Given the description of an element on the screen output the (x, y) to click on. 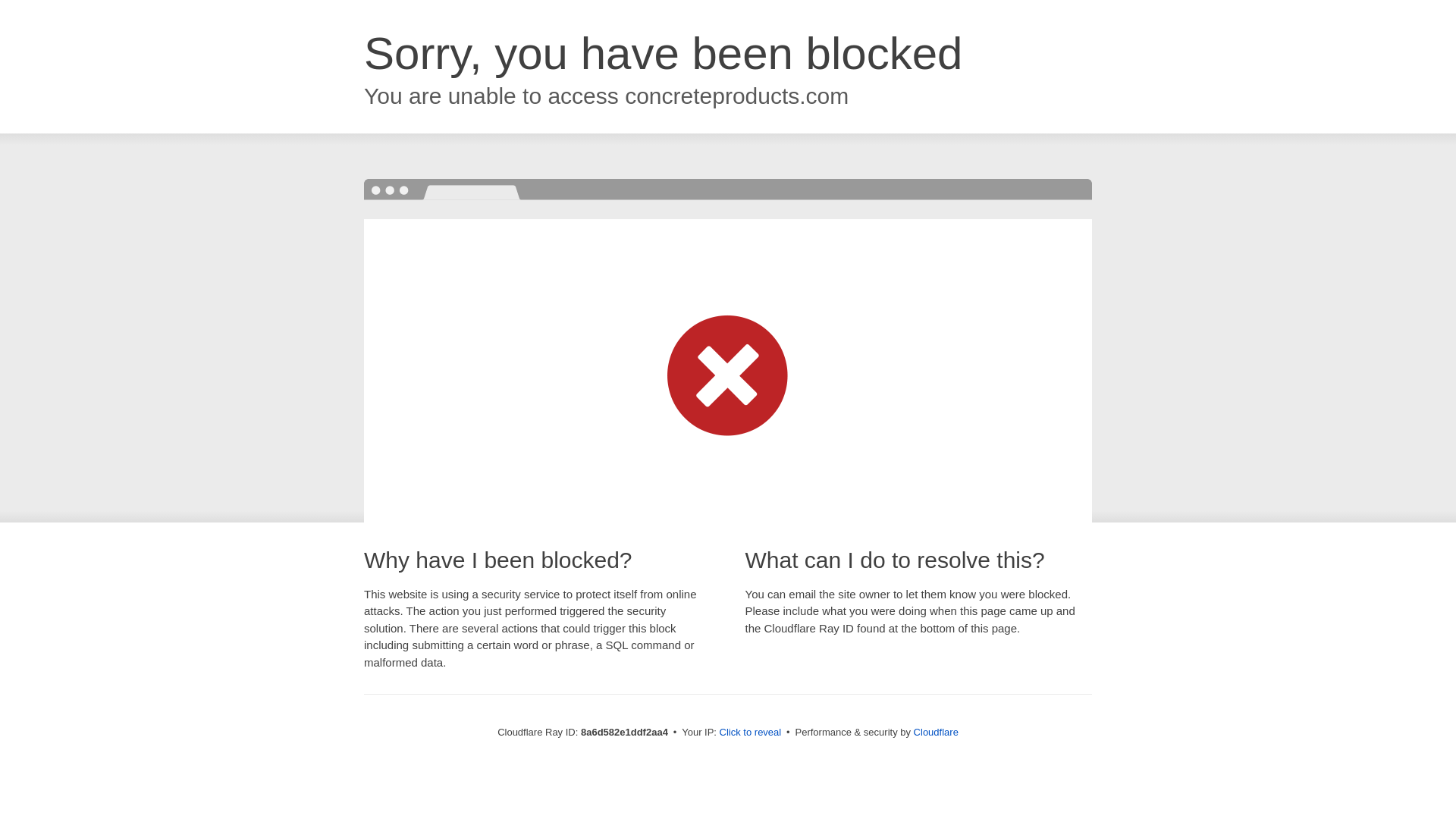
Cloudflare (936, 731)
Click to reveal (750, 732)
